Given the description of an element on the screen output the (x, y) to click on. 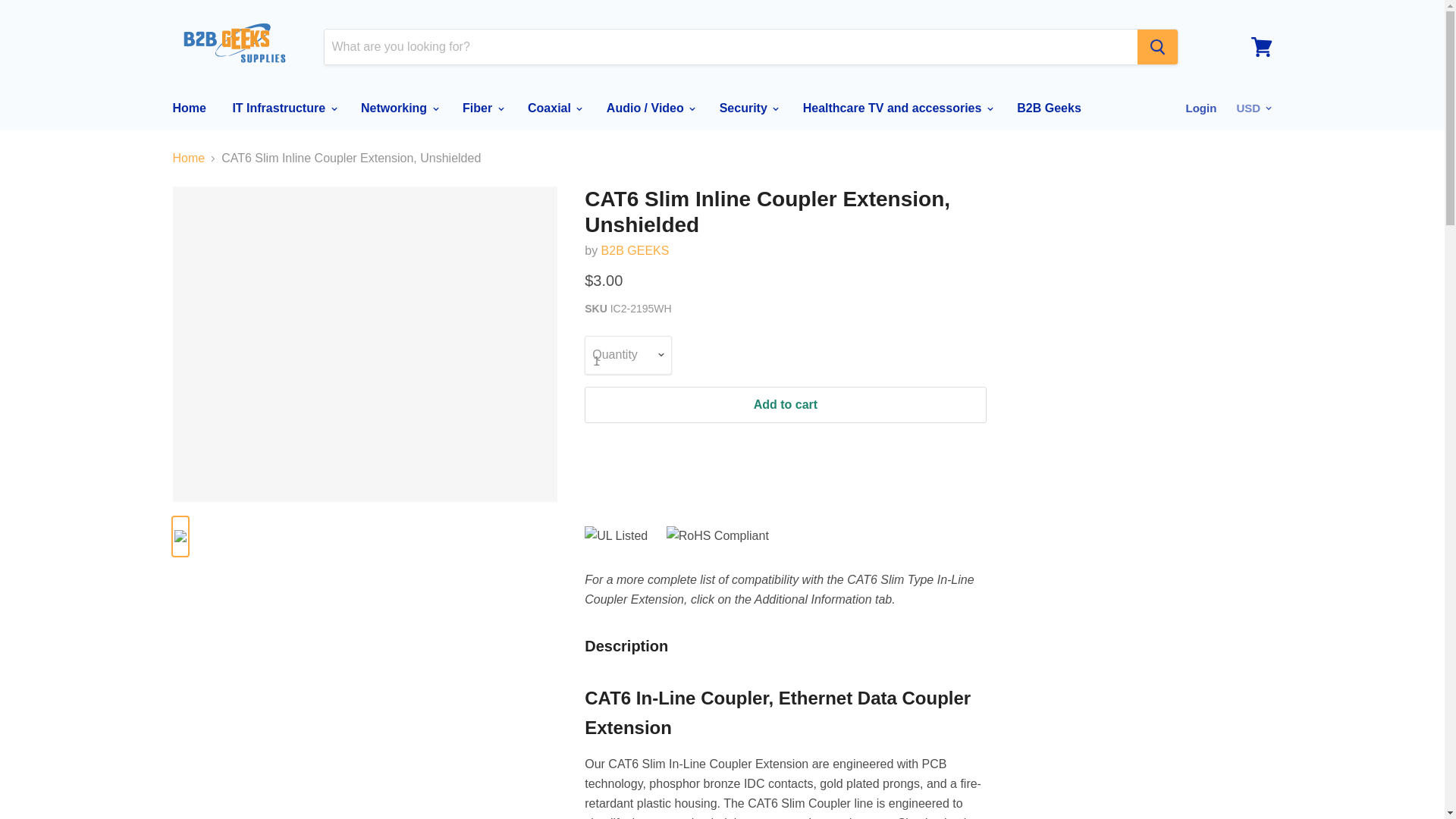
B2B GEEKS (635, 250)
Networking (398, 108)
Home (188, 108)
IT Infrastructure (283, 108)
View cart (1261, 46)
